Given the description of an element on the screen output the (x, y) to click on. 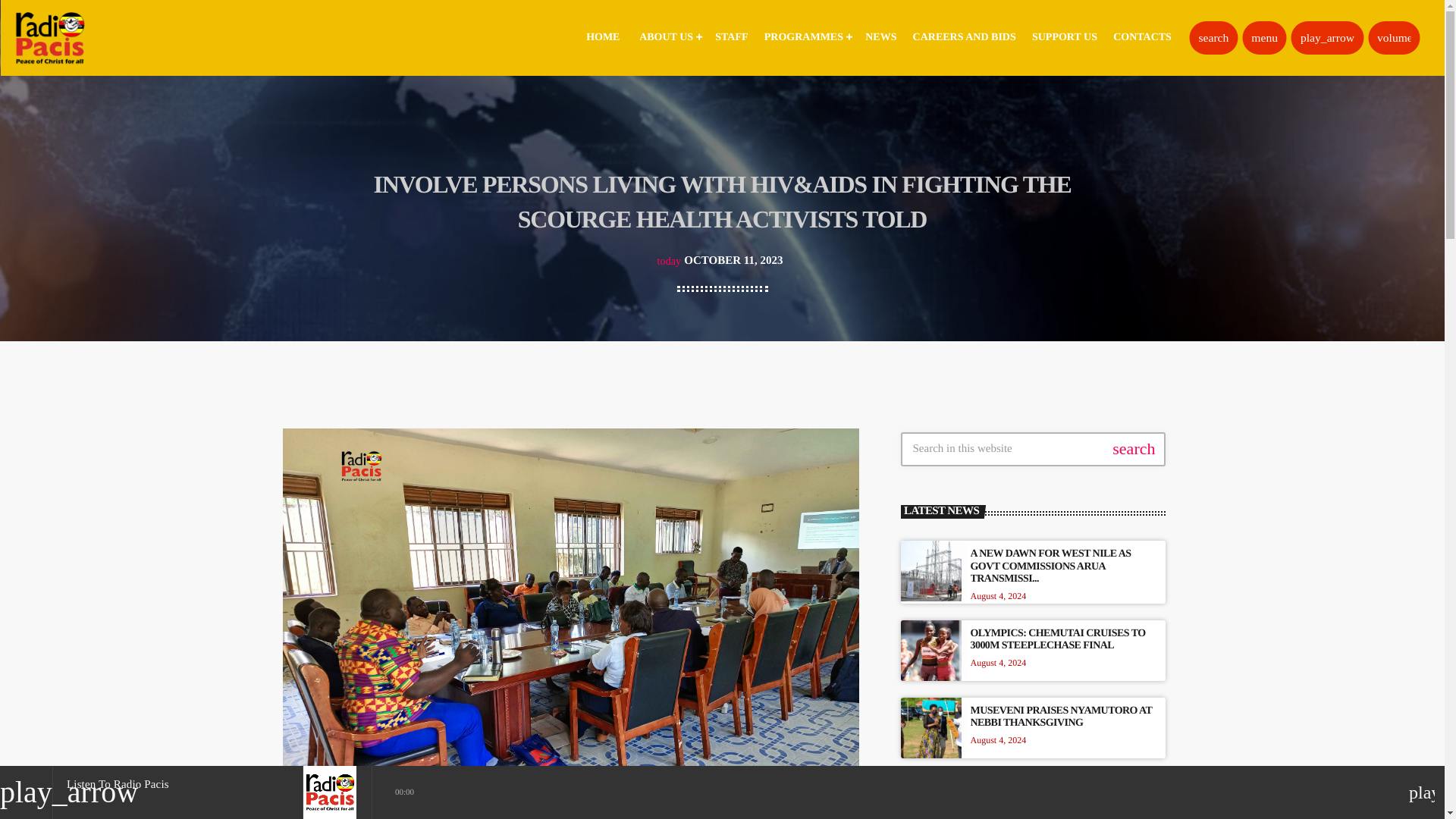
CAREERS AND BIDS (964, 38)
PROGRAMMES (806, 38)
ABOUT US (668, 38)
NEWS (880, 38)
search (1213, 37)
SUPPORT US (1064, 38)
menu (1264, 37)
HOME (602, 38)
CONTACTS (1142, 38)
STAFF (731, 38)
